Given the description of an element on the screen output the (x, y) to click on. 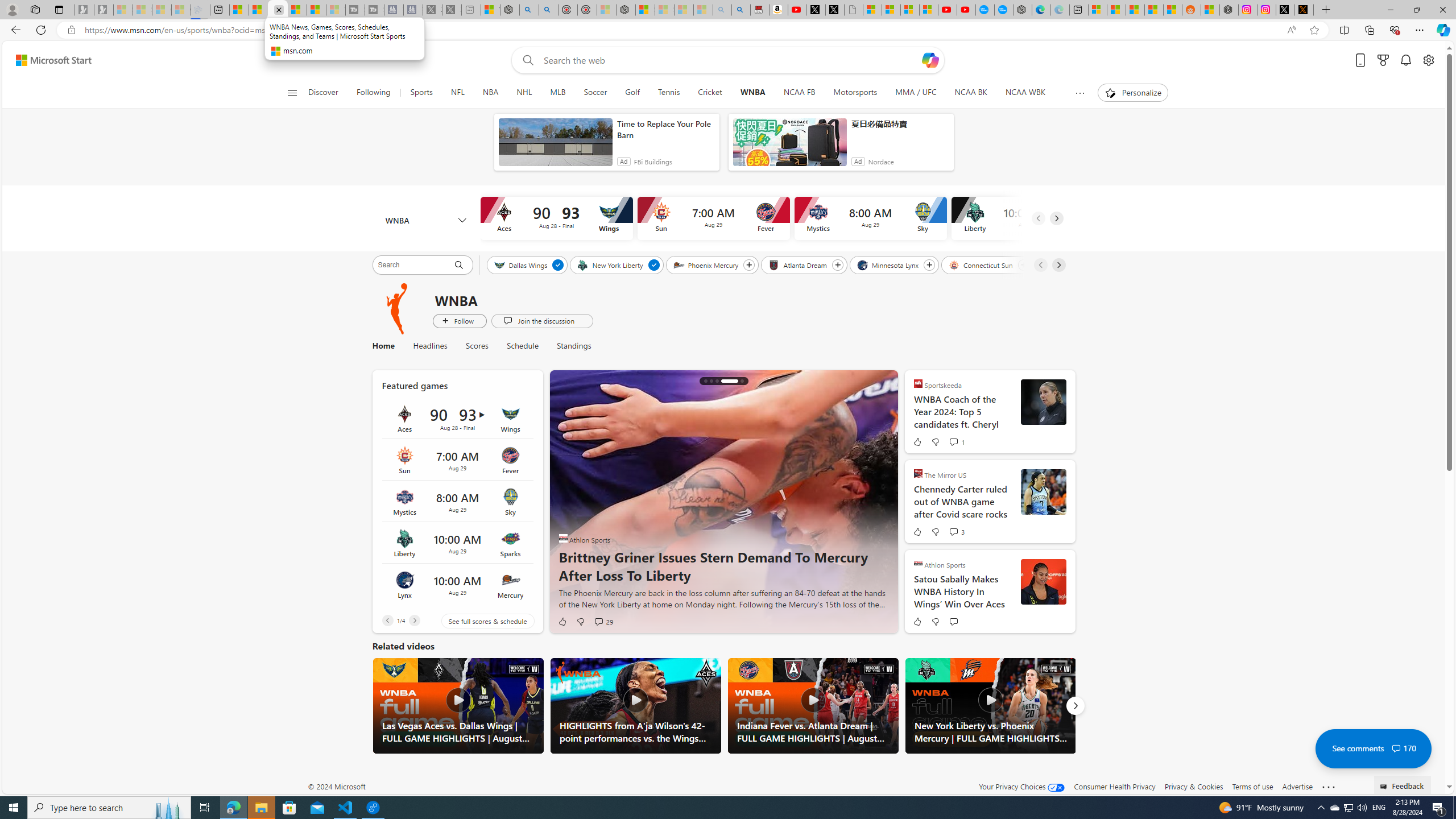
Notifications (1405, 60)
Atlanta Dream (798, 264)
next (882, 501)
NBA (490, 92)
Amazon Echo Dot PNG - Search Images (740, 9)
Class: button-glyph (292, 92)
Follow Minnesota Lynx (929, 265)
Gloom - YouTube (947, 9)
